Given the description of an element on the screen output the (x, y) to click on. 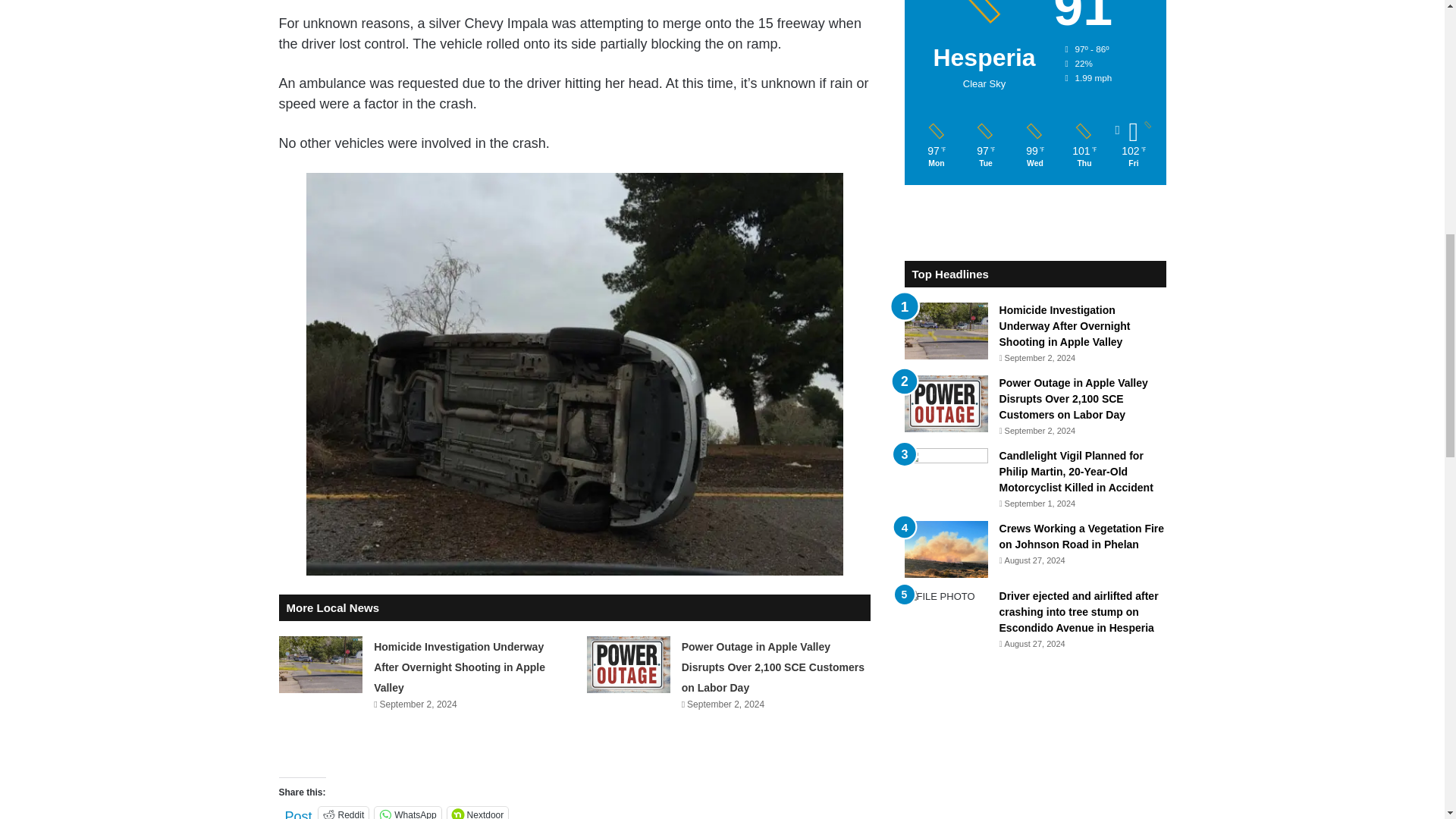
WhatsApp (407, 812)
Click to share on WhatsApp (407, 812)
Nextdoor (477, 812)
Reddit (343, 812)
Click to share on Reddit (343, 812)
Post (299, 812)
Click to share on Nextdoor (477, 812)
